Given the description of an element on the screen output the (x, y) to click on. 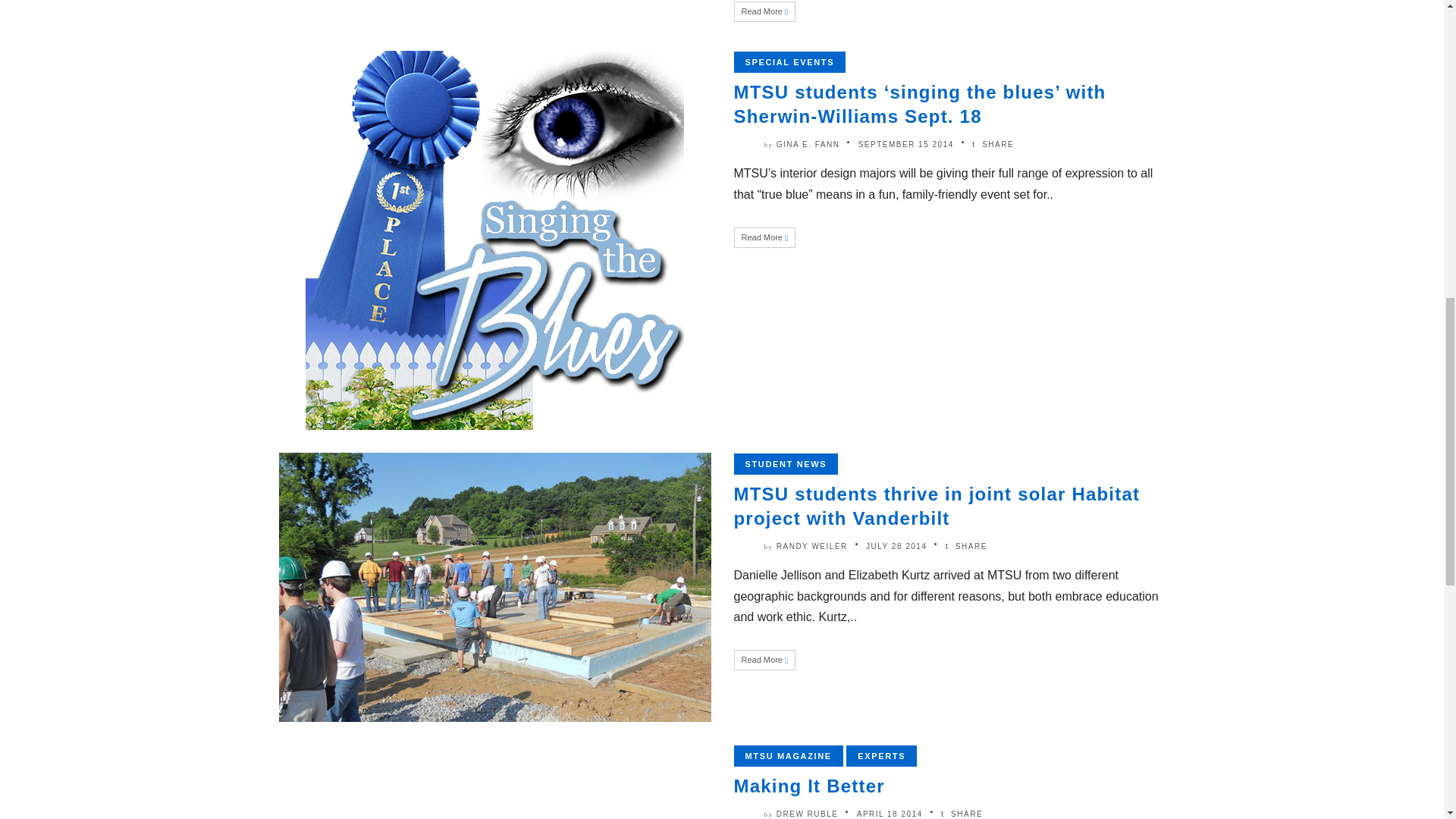
September 15, 2014 8:45 (906, 144)
Posts by Gina E. Fann (808, 144)
Posts by Randy Weiler (811, 546)
Posts by Drew Ruble (807, 813)
April 18, 2014 1:47 (890, 813)
July 28, 2014 12:31 (896, 546)
